Given the description of an element on the screen output the (x, y) to click on. 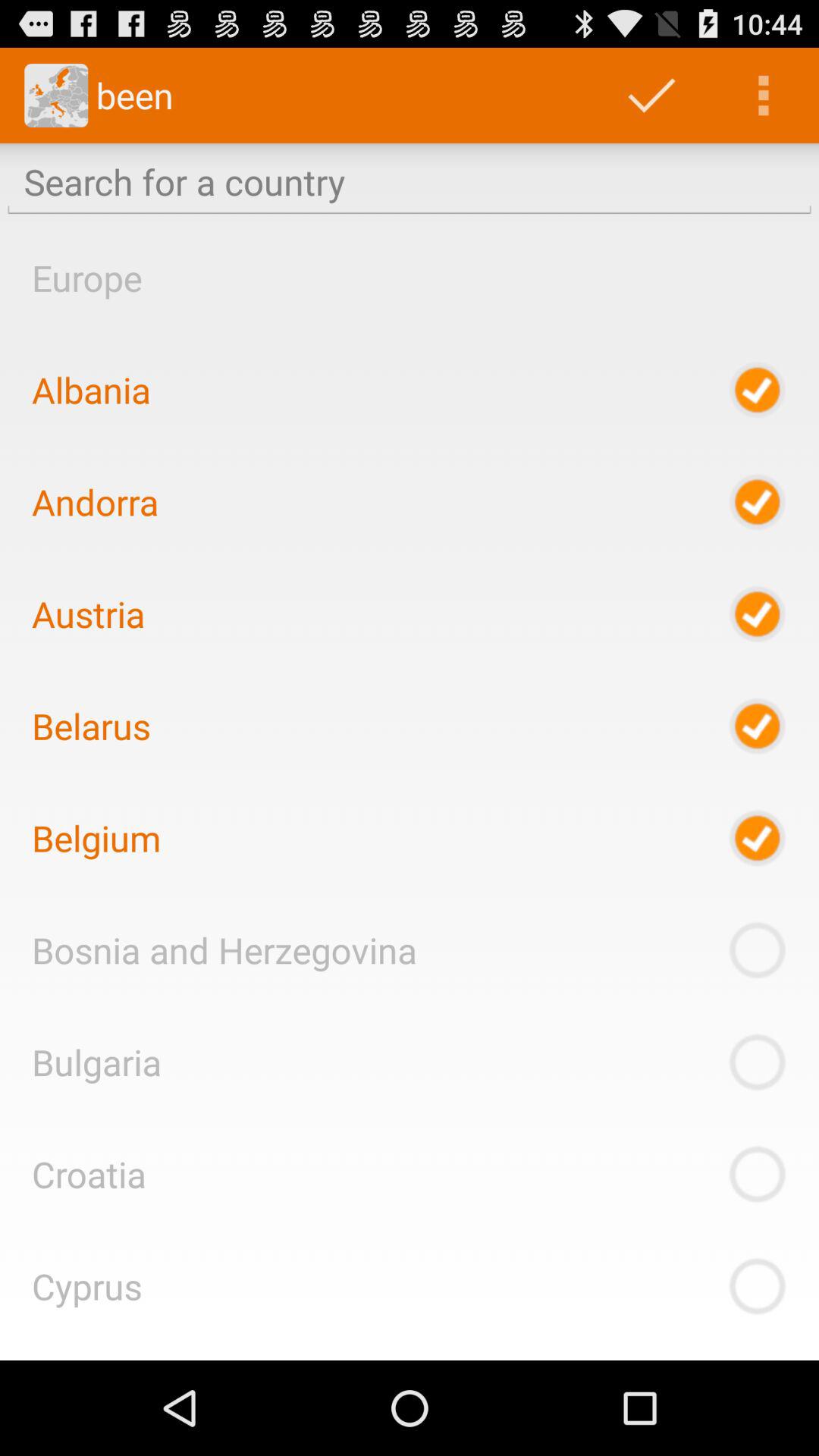
select the item above belarus icon (88, 613)
